Given the description of an element on the screen output the (x, y) to click on. 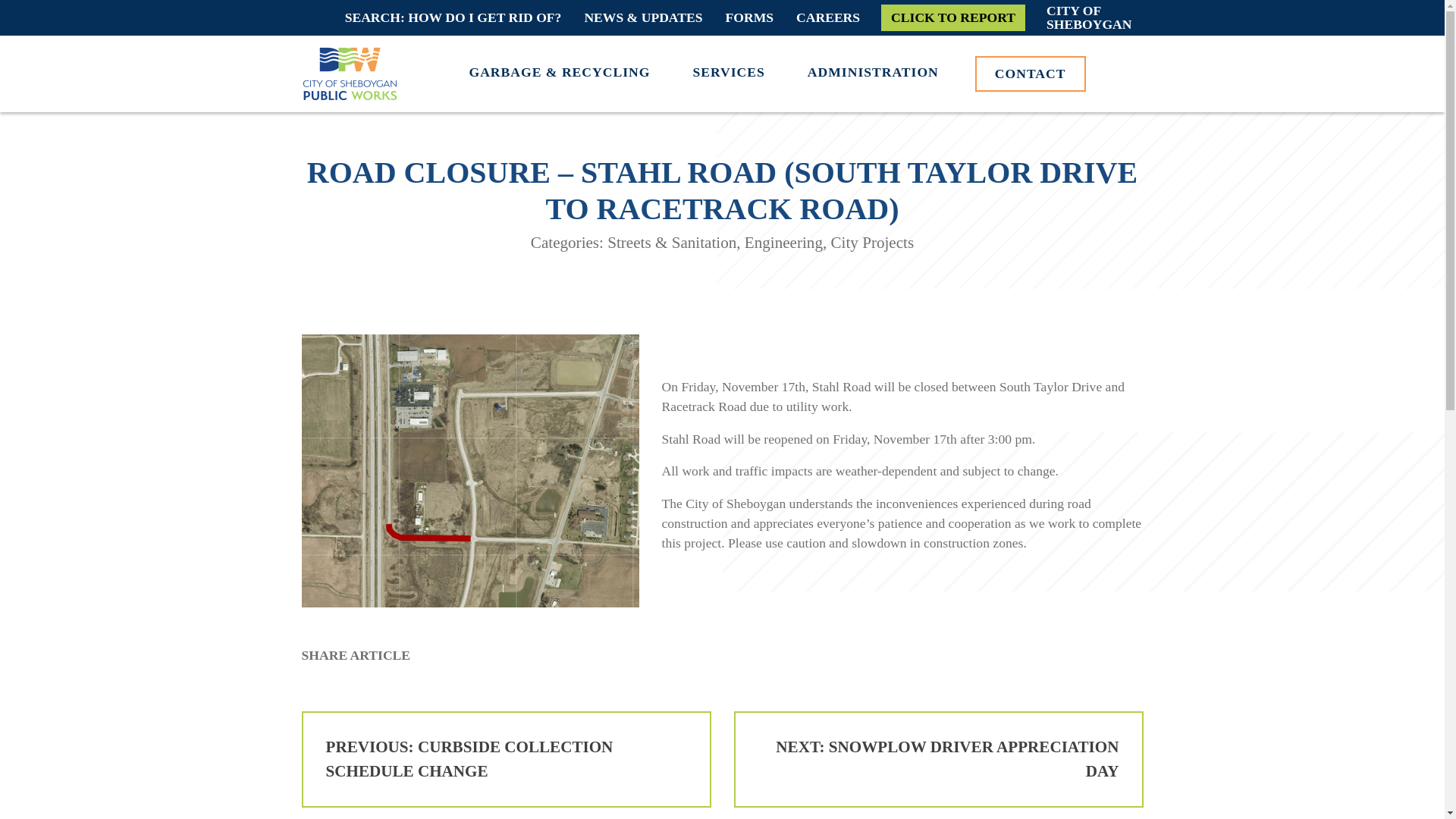
CAREERS (1088, 17)
SERVICES (827, 17)
NEXT: SNOWPLOW DRIVER APPRECIATION DAY (727, 71)
ADMINISTRATION (937, 759)
CLICK TO REPORT (873, 71)
CONTACT (952, 17)
PREVIOUS: CURBSIDE COLLECTION SCHEDULE CHANGE (1030, 73)
SEARCH: HOW DO I GET RID OF? (506, 759)
FORMS (453, 17)
